Given the description of an element on the screen output the (x, y) to click on. 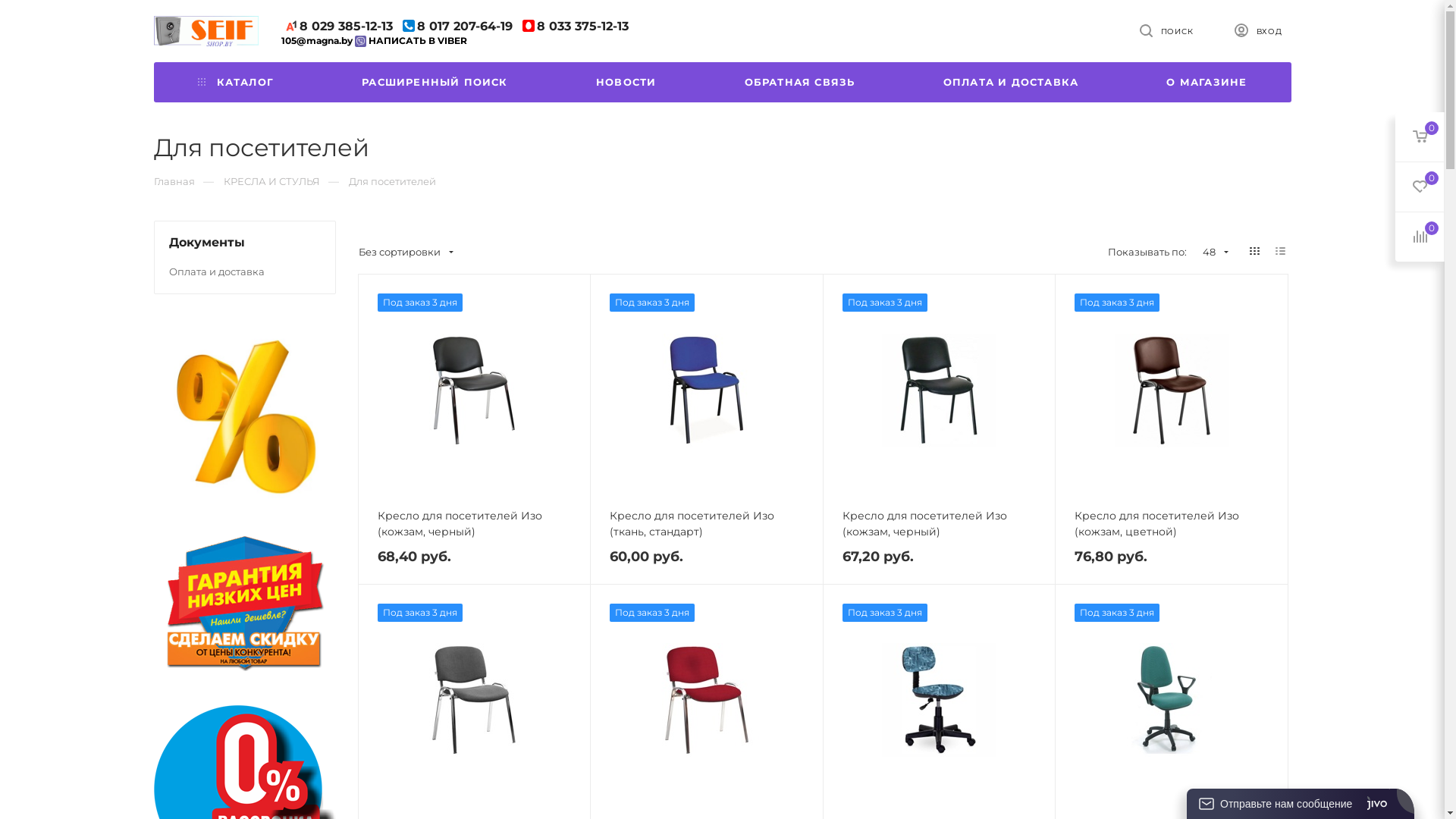
8 033 375-12-13 Element type: text (575, 26)
48 Element type: text (1210, 251)
105@magna.by Element type: text (315, 40)
8 017 207-64-19 Element type: text (457, 26)
8 029 385-12-13 Element type: text (337, 26)
